Given the description of an element on the screen output the (x, y) to click on. 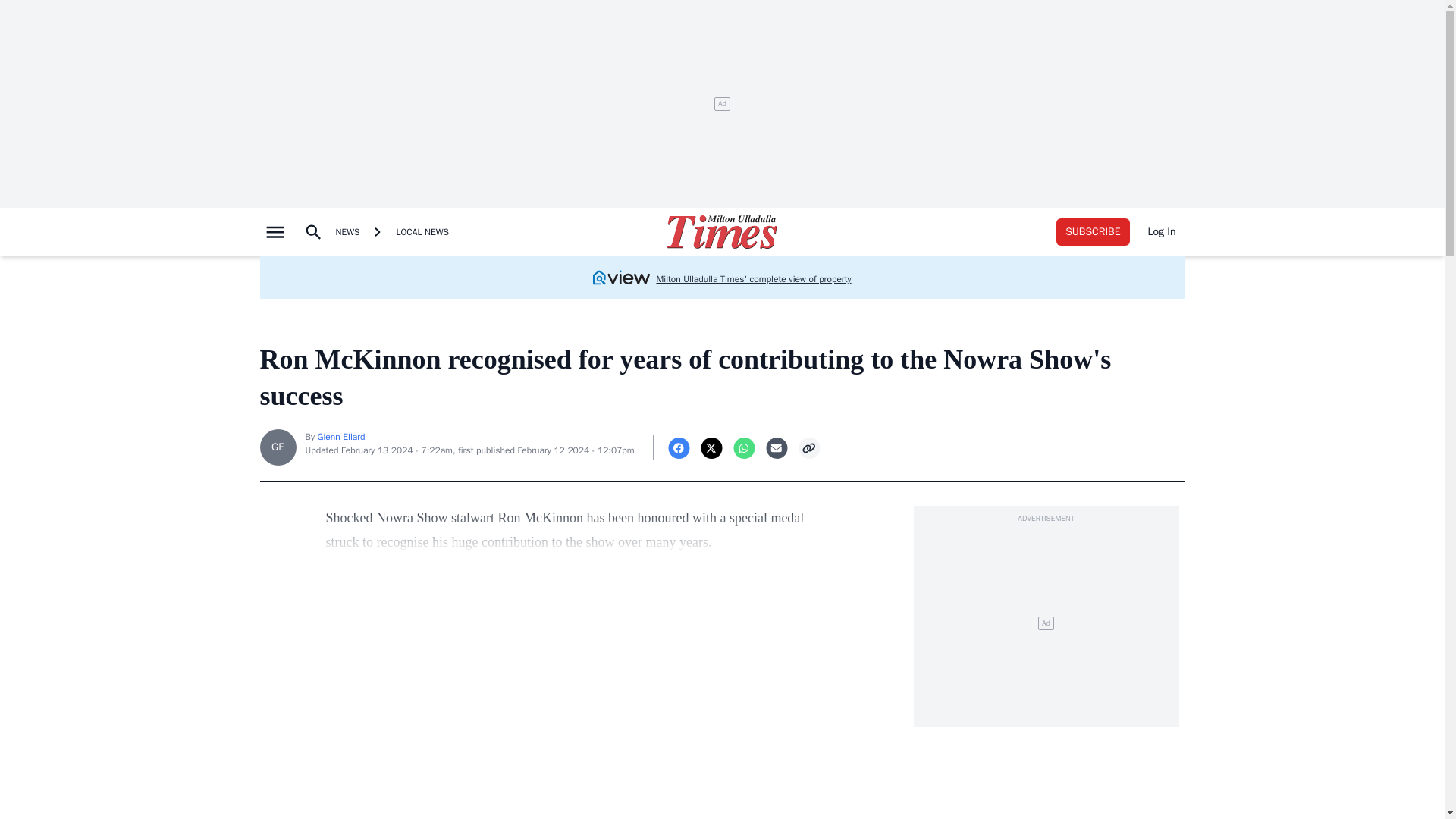
NEWS (347, 232)
LOCAL NEWS (422, 232)
SUBSCRIBE (1093, 231)
Log In (1161, 231)
